Given the description of an element on the screen output the (x, y) to click on. 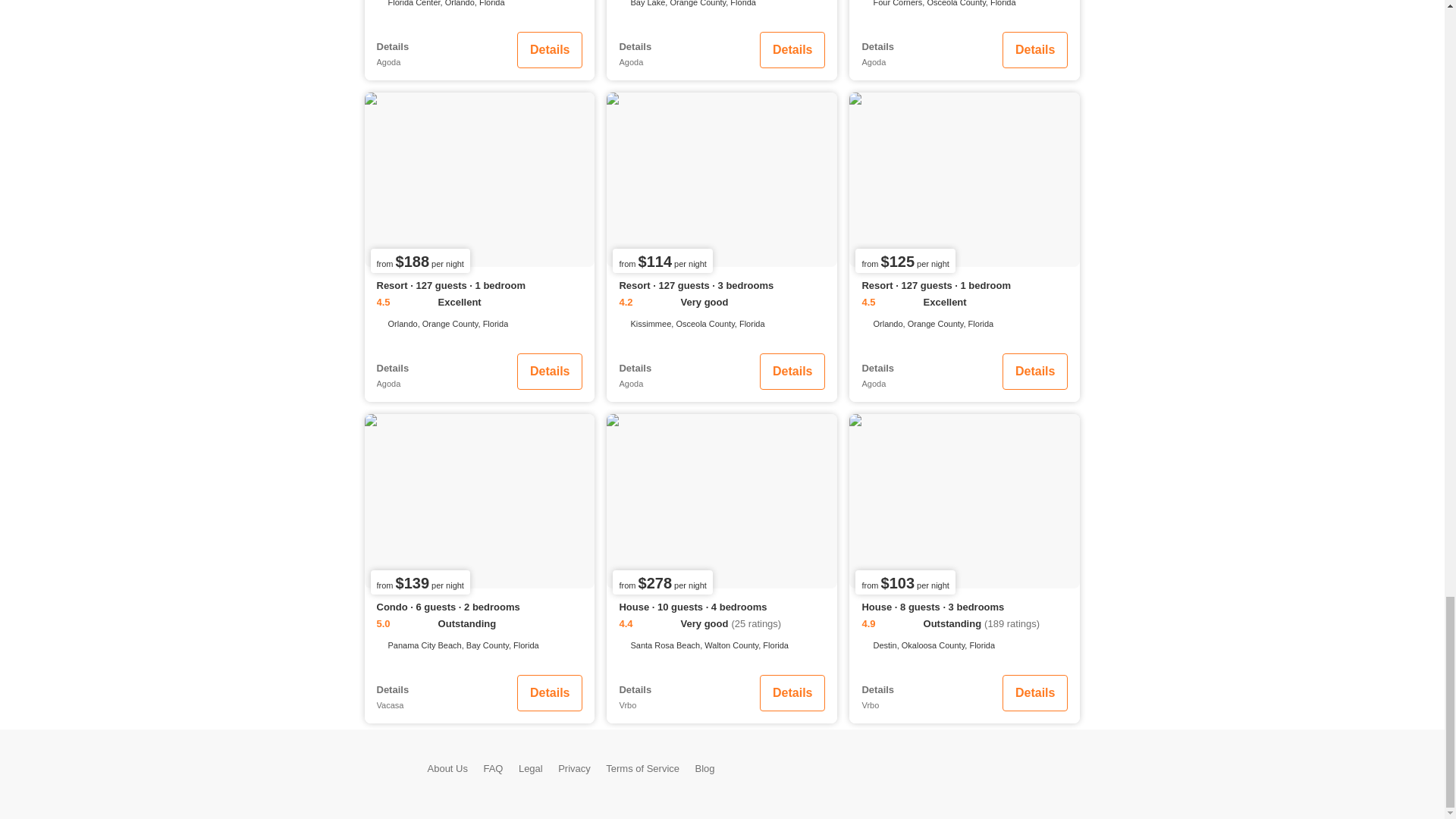
Terms of Service (642, 767)
Blog (704, 767)
About Us (447, 767)
Legal (530, 767)
Privacy (574, 767)
FAQ (492, 767)
